Given the description of an element on the screen output the (x, y) to click on. 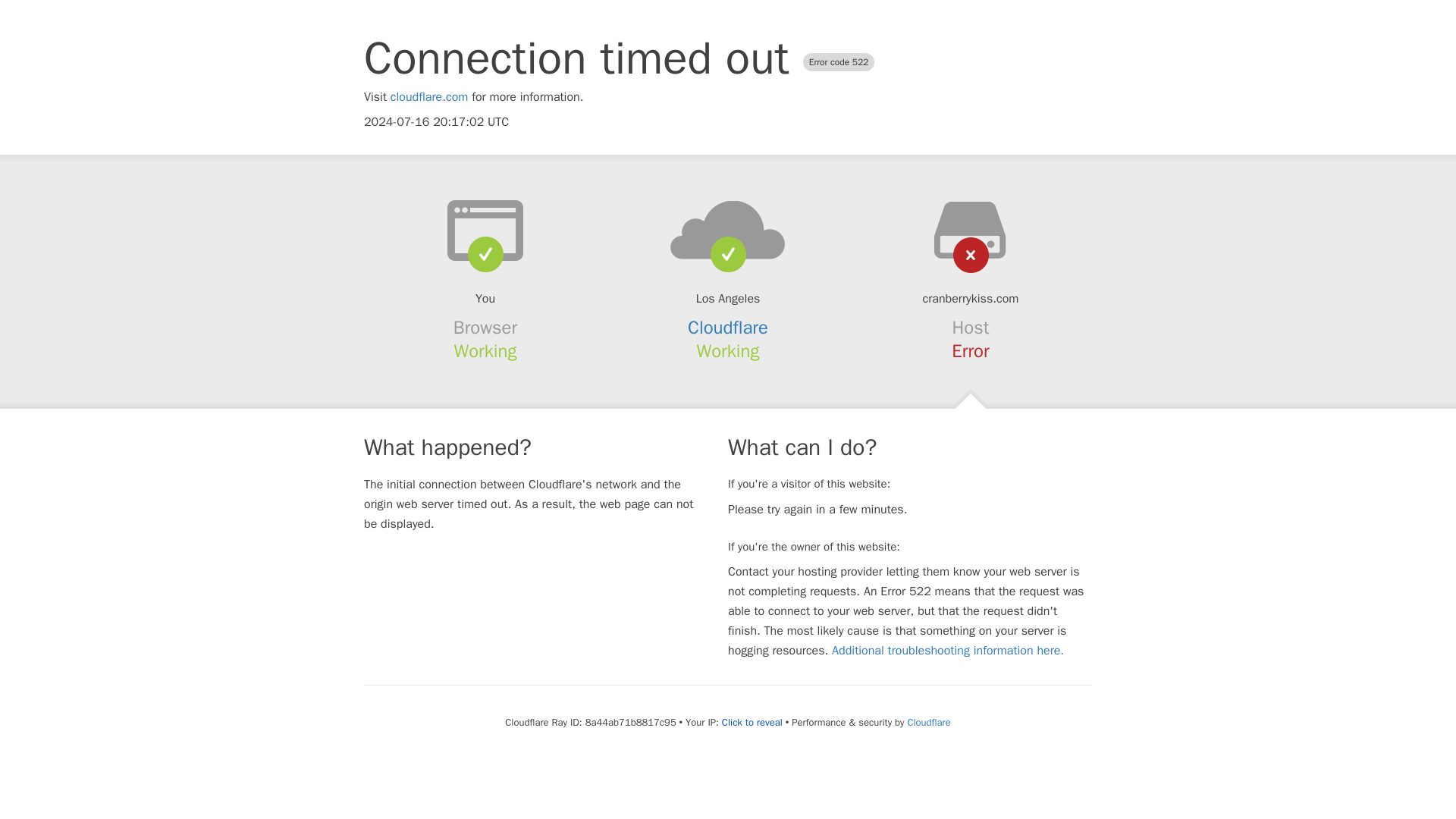
Cloudflare (727, 327)
Cloudflare (928, 721)
Additional troubleshooting information here. (947, 650)
Click to reveal (752, 722)
cloudflare.com (429, 96)
